Given the description of an element on the screen output the (x, y) to click on. 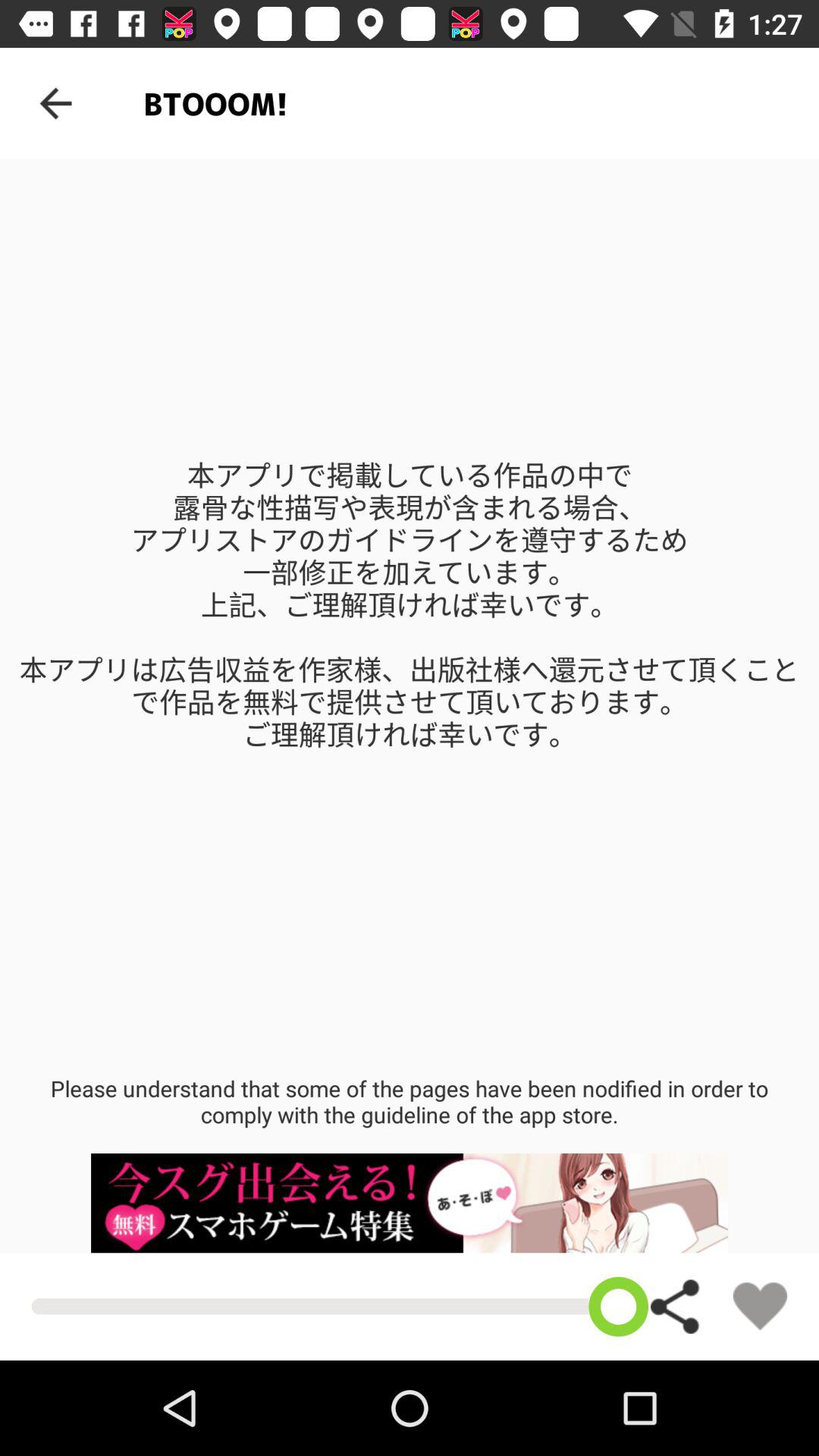
go back (55, 103)
